Given the description of an element on the screen output the (x, y) to click on. 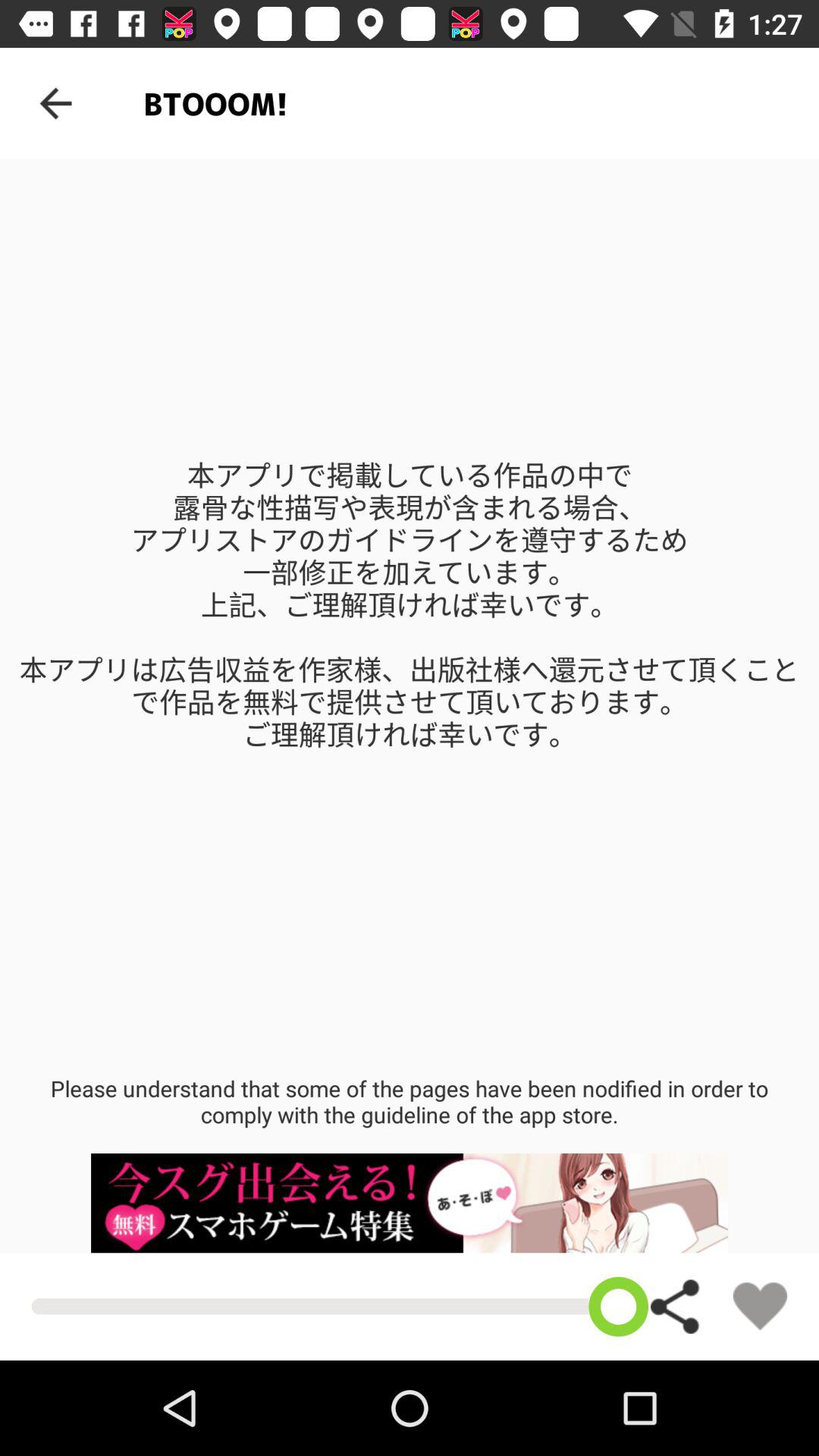
go back (55, 103)
